Given the description of an element on the screen output the (x, y) to click on. 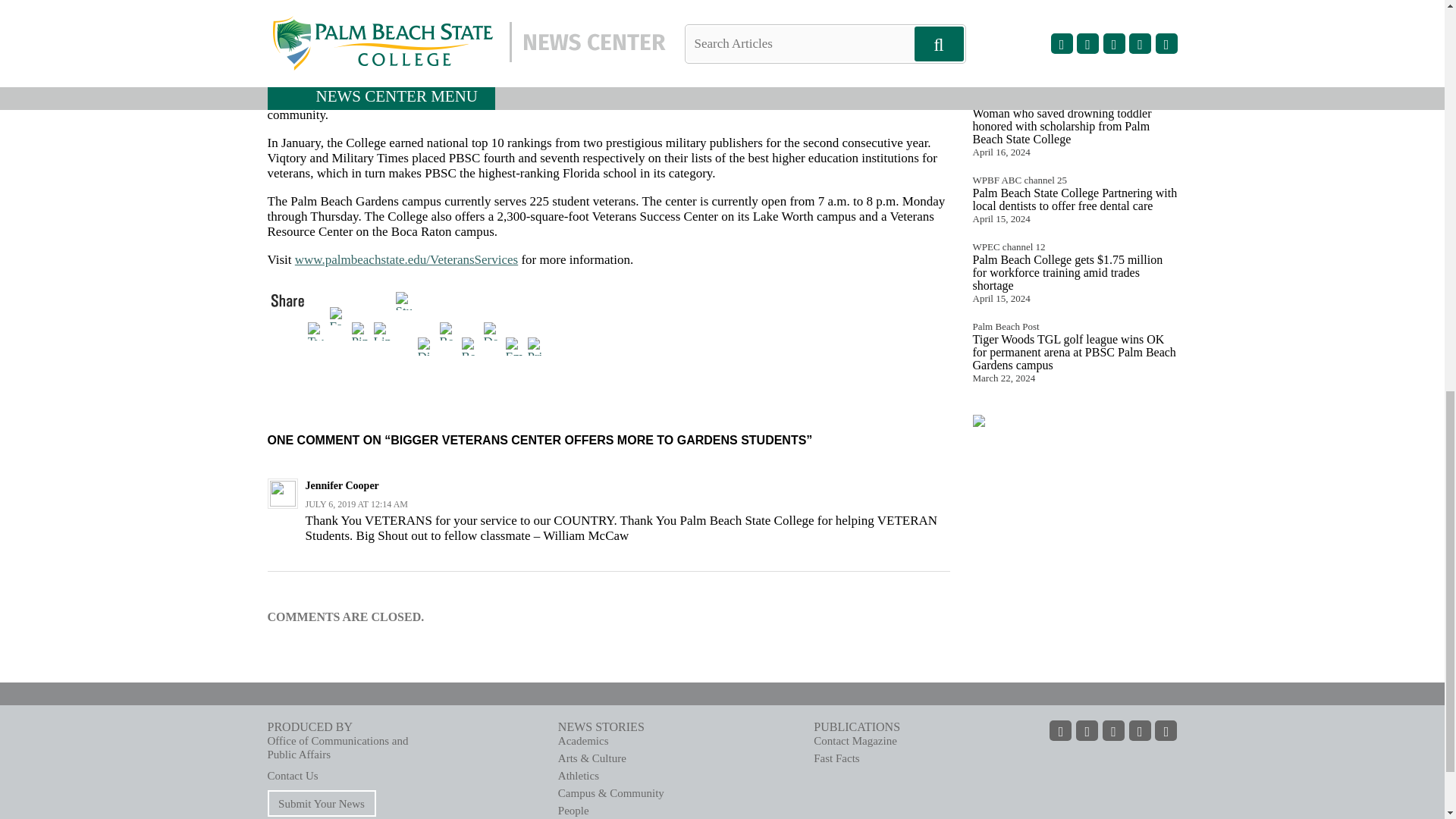
Pinterest (363, 329)
Digg (427, 344)
Linkedin (383, 329)
Delicious (494, 329)
Email (516, 344)
Print (538, 344)
